Given the description of an element on the screen output the (x, y) to click on. 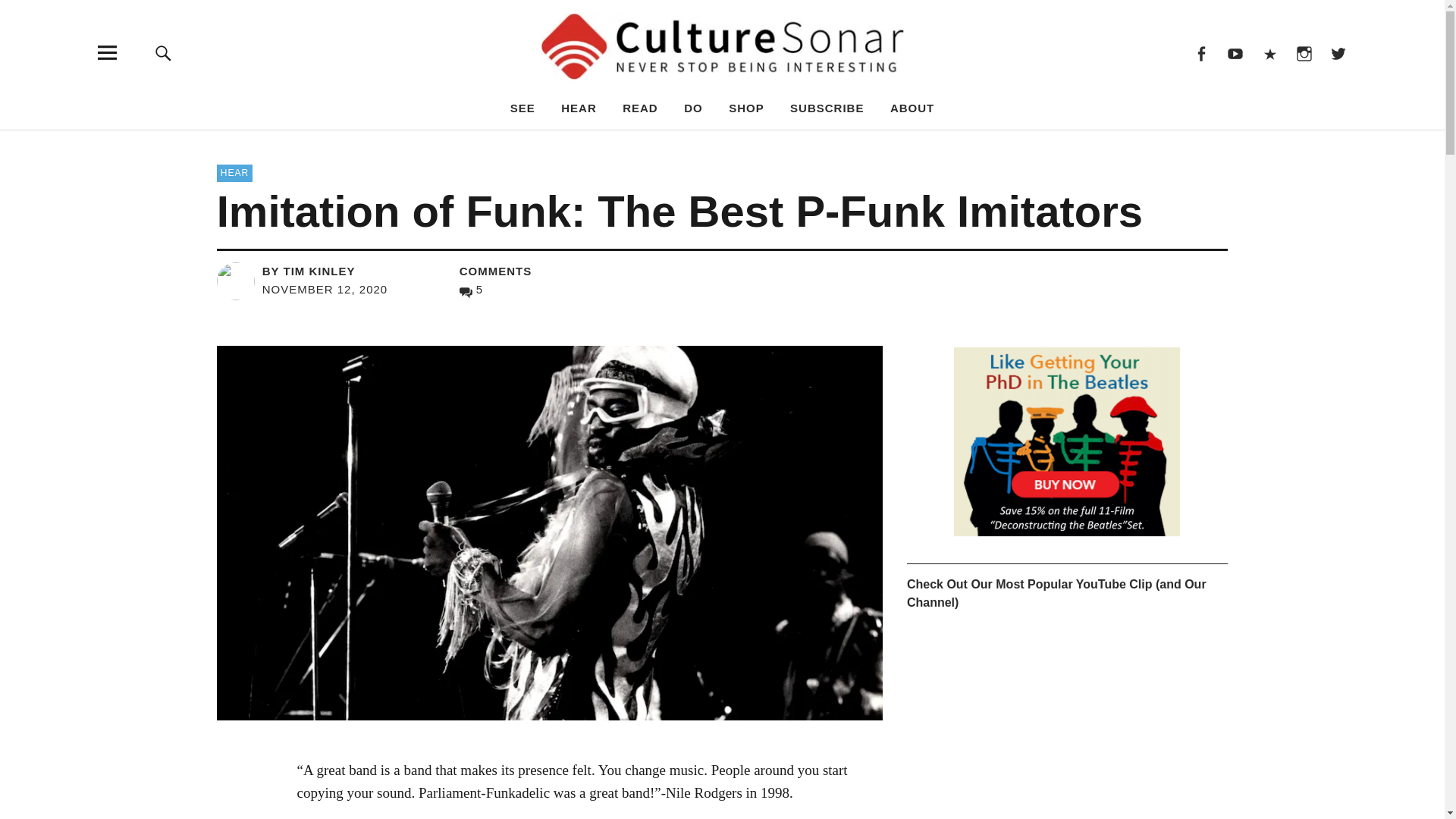
Search (965, 144)
Twitter (1338, 52)
SUBSCRIBE (826, 107)
Facebook (1200, 52)
Instagram (1303, 52)
READ (640, 107)
SEE (523, 107)
YouTube (1235, 52)
TikTok (1269, 52)
YouTube video player (1066, 725)
ABOUT (911, 107)
HEAR (233, 172)
DO (693, 107)
HEAR (578, 107)
SHOP (746, 107)
